Given the description of an element on the screen output the (x, y) to click on. 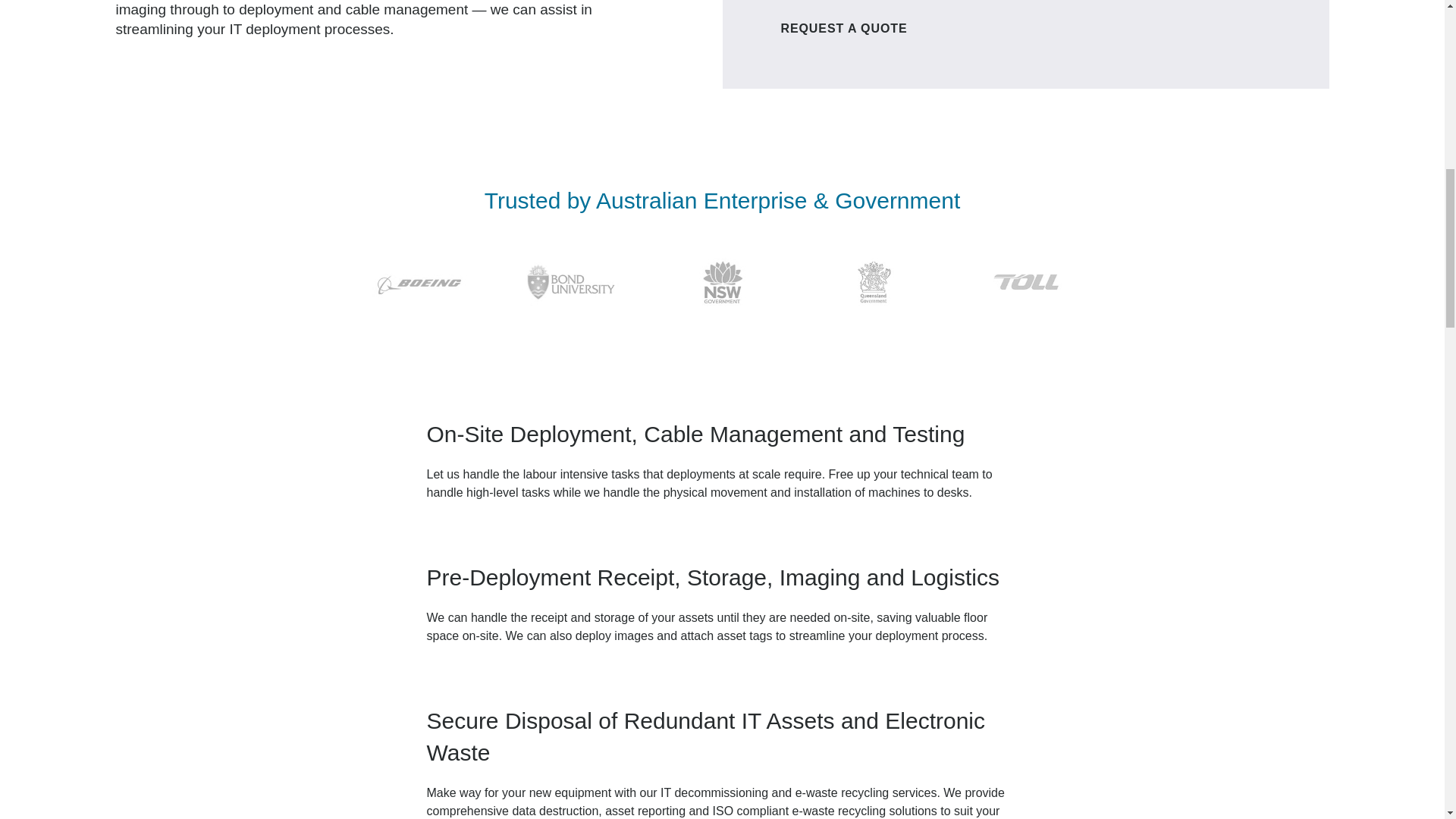
REQUEST A QUOTE (843, 28)
Bond University (569, 281)
Toll (1025, 281)
QLD Government (873, 281)
NSW Government (721, 281)
Boeing (418, 281)
